Given the description of an element on the screen output the (x, y) to click on. 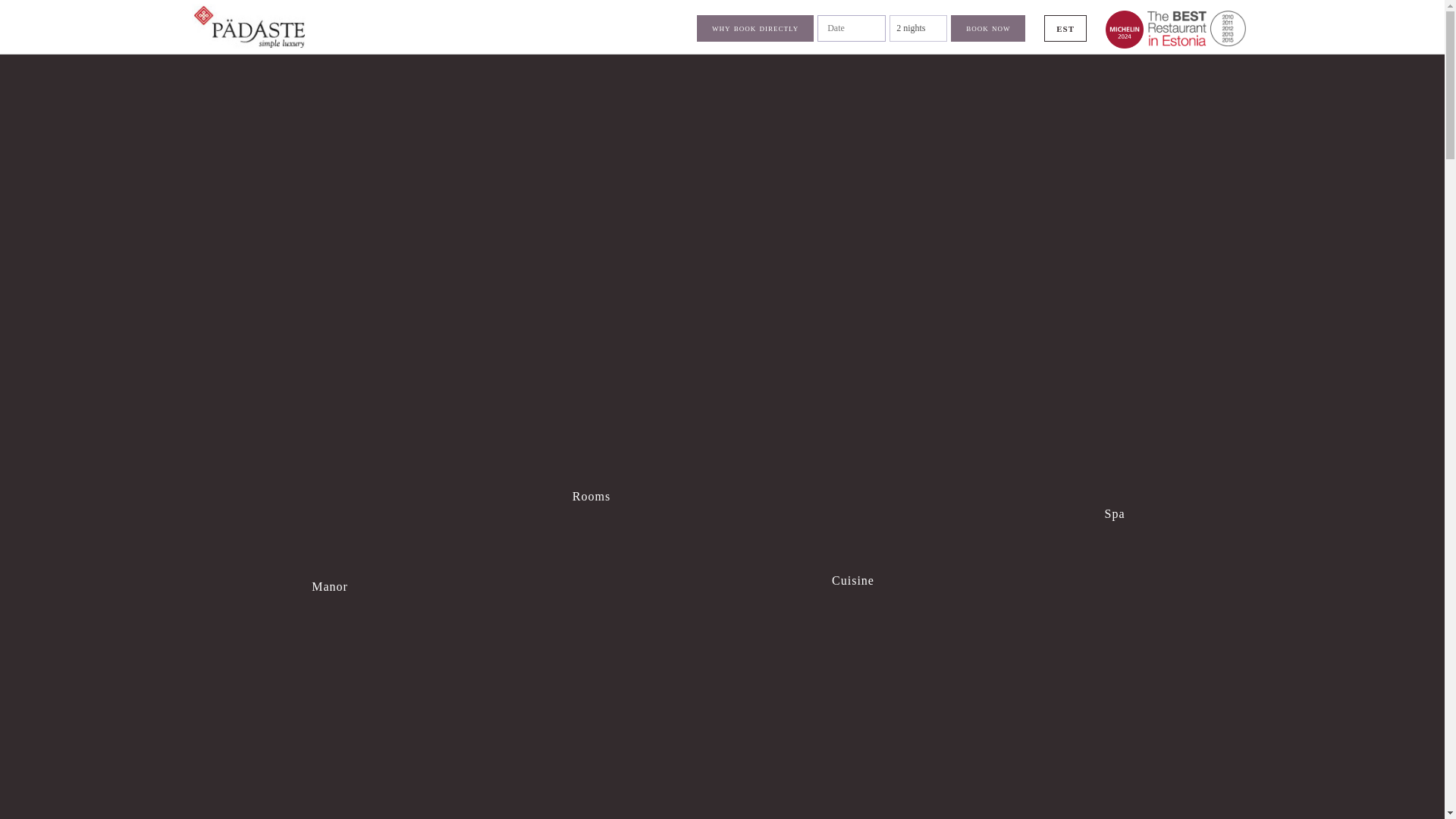
Book now (987, 28)
Return home (1195, 27)
Rooms (590, 408)
Home (247, 26)
Spa (1114, 417)
